Given the description of an element on the screen output the (x, y) to click on. 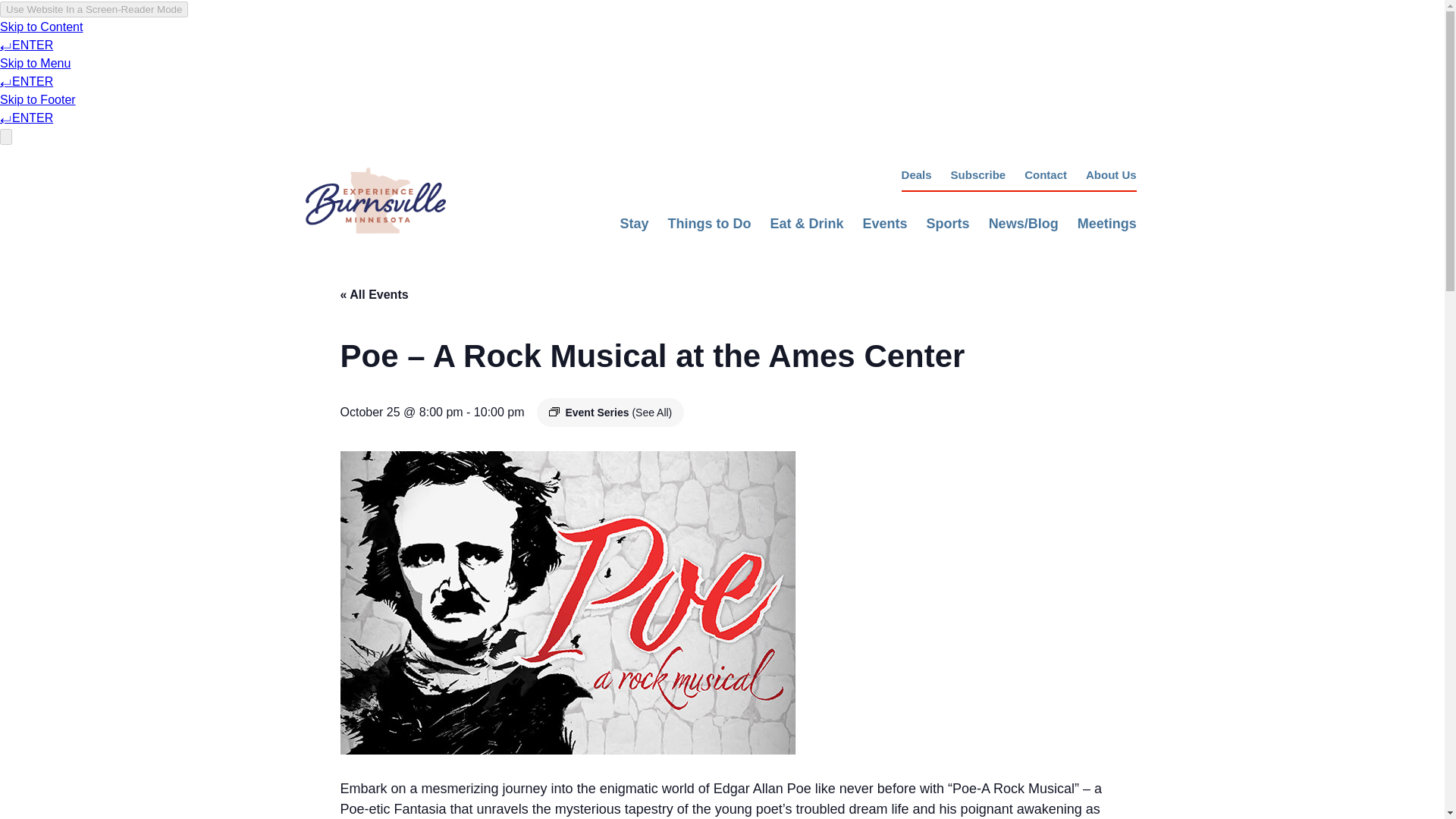
Subscribe (978, 175)
Things to Do (709, 222)
About Us (1111, 175)
Deals (916, 175)
Contact (1046, 175)
Events (885, 222)
Event Series (553, 411)
Sports (947, 222)
Meetings (1107, 222)
